Given the description of an element on the screen output the (x, y) to click on. 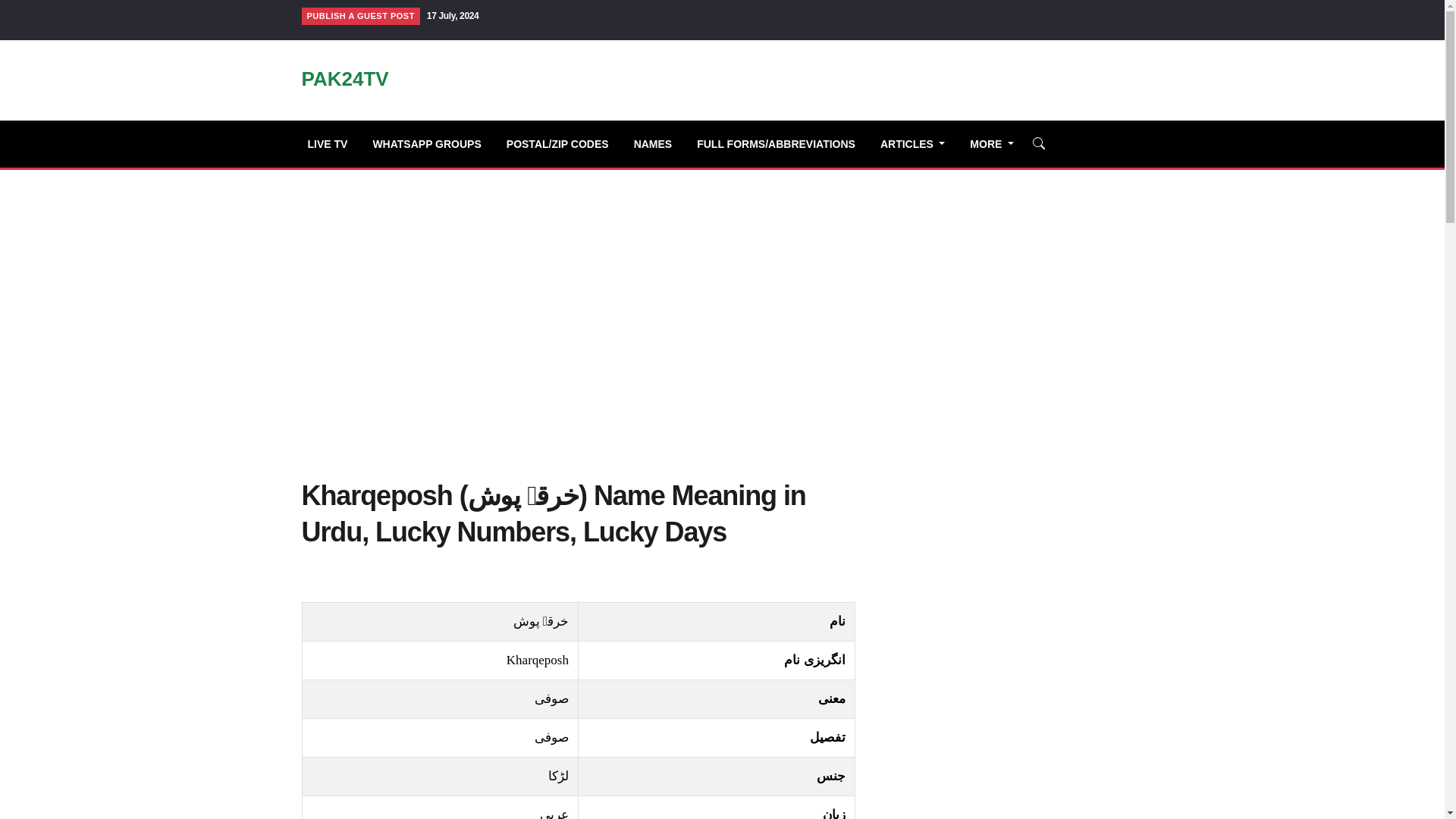
17 July, 2024 (452, 15)
WHATSAPP GROUPS (432, 143)
Advertisement (1009, 591)
LIVE TV (333, 143)
MORE (997, 143)
PAK24TV (344, 81)
PUBLISH A GUEST POST (360, 16)
ARTICLES (919, 143)
NAMES (659, 143)
